Given the description of an element on the screen output the (x, y) to click on. 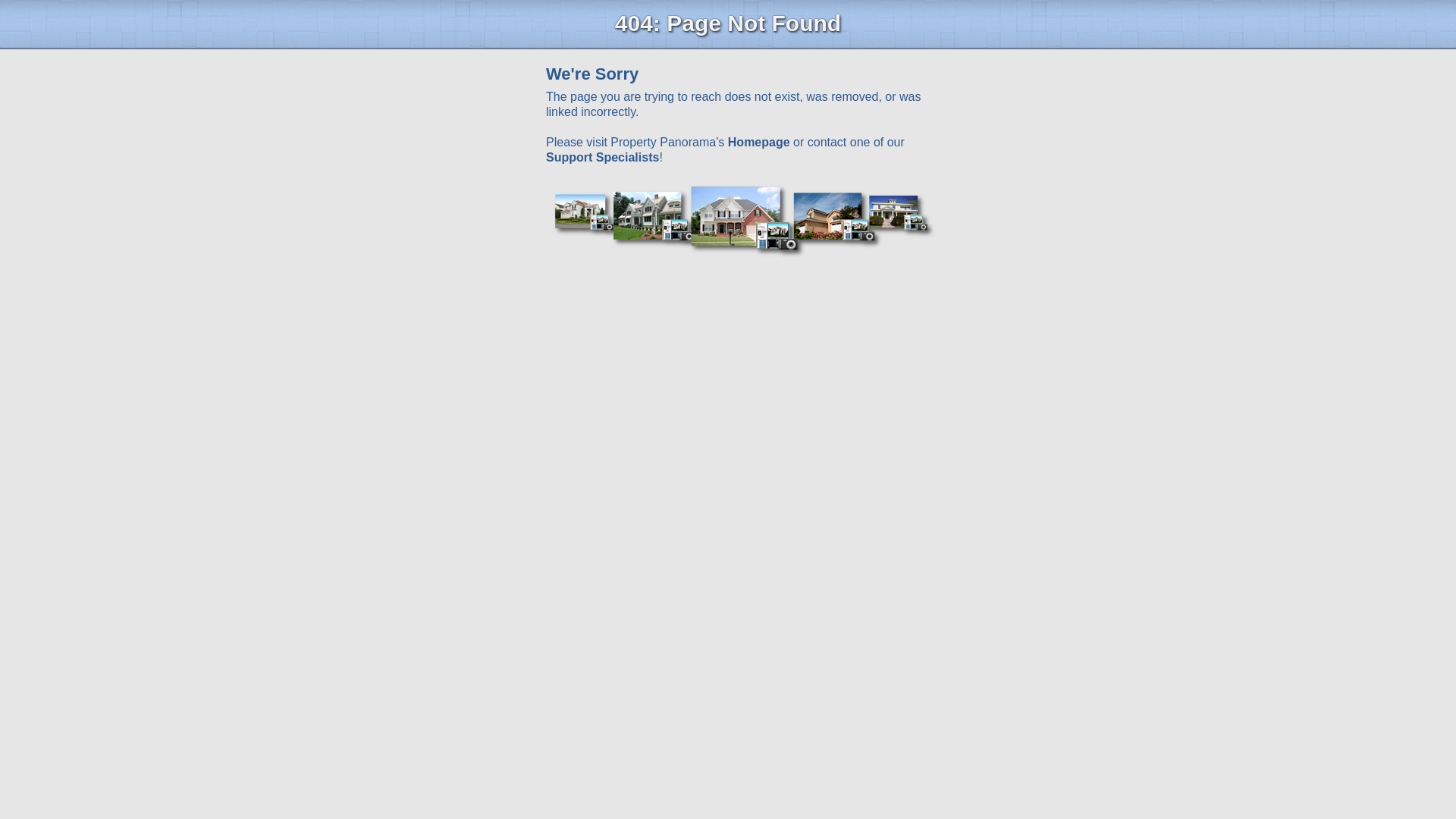
Support Specialists (602, 156)
Homepage (759, 141)
